Given the description of an element on the screen output the (x, y) to click on. 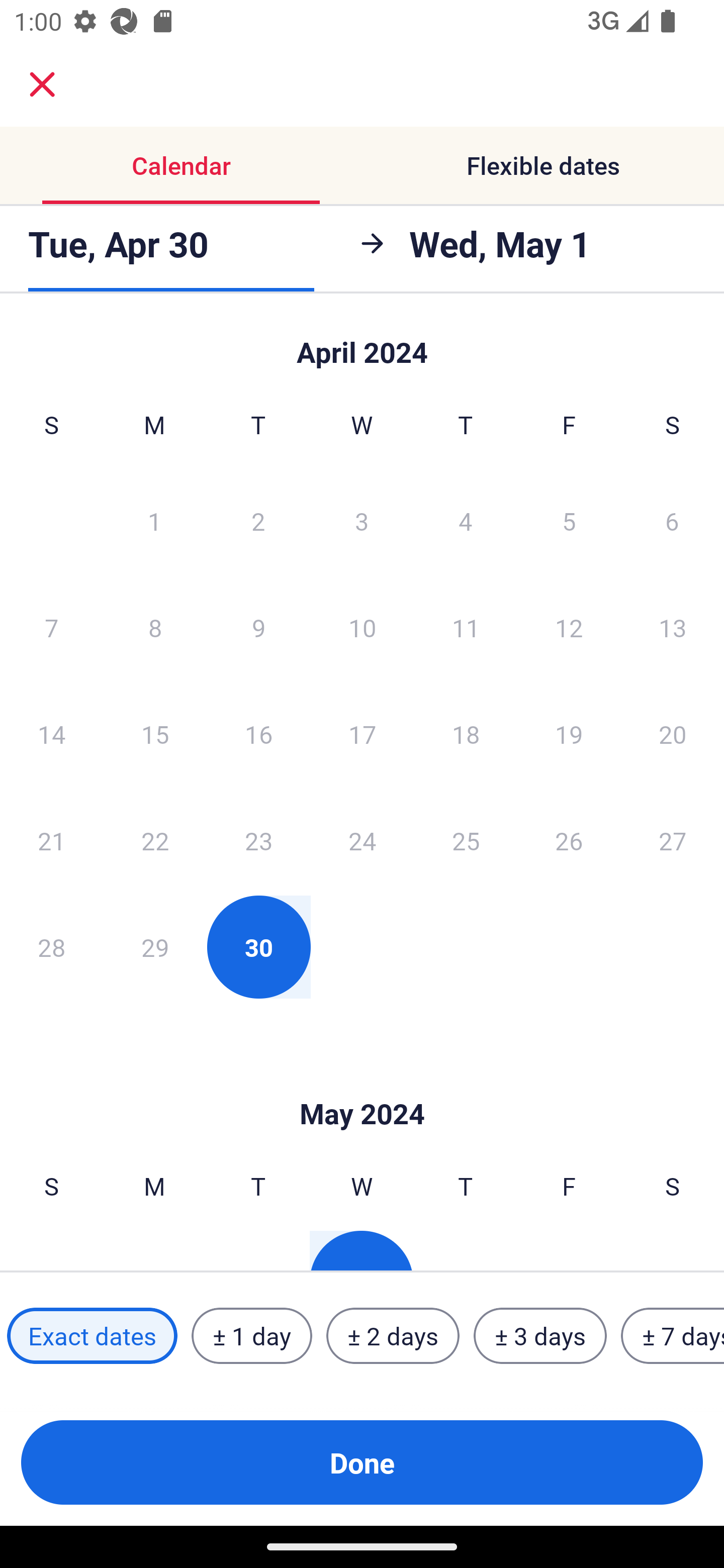
close. (42, 84)
Flexible dates (542, 164)
Skip to Done (362, 343)
1 Monday, April 1, 2024 (154, 520)
2 Tuesday, April 2, 2024 (257, 520)
3 Wednesday, April 3, 2024 (361, 520)
4 Thursday, April 4, 2024 (465, 520)
5 Friday, April 5, 2024 (568, 520)
6 Saturday, April 6, 2024 (672, 520)
7 Sunday, April 7, 2024 (51, 626)
8 Monday, April 8, 2024 (155, 626)
9 Tuesday, April 9, 2024 (258, 626)
10 Wednesday, April 10, 2024 (362, 626)
11 Thursday, April 11, 2024 (465, 626)
12 Friday, April 12, 2024 (569, 626)
13 Saturday, April 13, 2024 (672, 626)
14 Sunday, April 14, 2024 (51, 733)
15 Monday, April 15, 2024 (155, 733)
16 Tuesday, April 16, 2024 (258, 733)
17 Wednesday, April 17, 2024 (362, 733)
18 Thursday, April 18, 2024 (465, 733)
19 Friday, April 19, 2024 (569, 733)
20 Saturday, April 20, 2024 (672, 733)
21 Sunday, April 21, 2024 (51, 840)
22 Monday, April 22, 2024 (155, 840)
23 Tuesday, April 23, 2024 (258, 840)
24 Wednesday, April 24, 2024 (362, 840)
25 Thursday, April 25, 2024 (465, 840)
26 Friday, April 26, 2024 (569, 840)
27 Saturday, April 27, 2024 (672, 840)
28 Sunday, April 28, 2024 (51, 946)
29 Monday, April 29, 2024 (155, 946)
Skip to Done (362, 1083)
Exact dates (92, 1335)
± 1 day (251, 1335)
± 2 days (392, 1335)
± 3 days (539, 1335)
± 7 days (672, 1335)
Done (361, 1462)
